Given the description of an element on the screen output the (x, y) to click on. 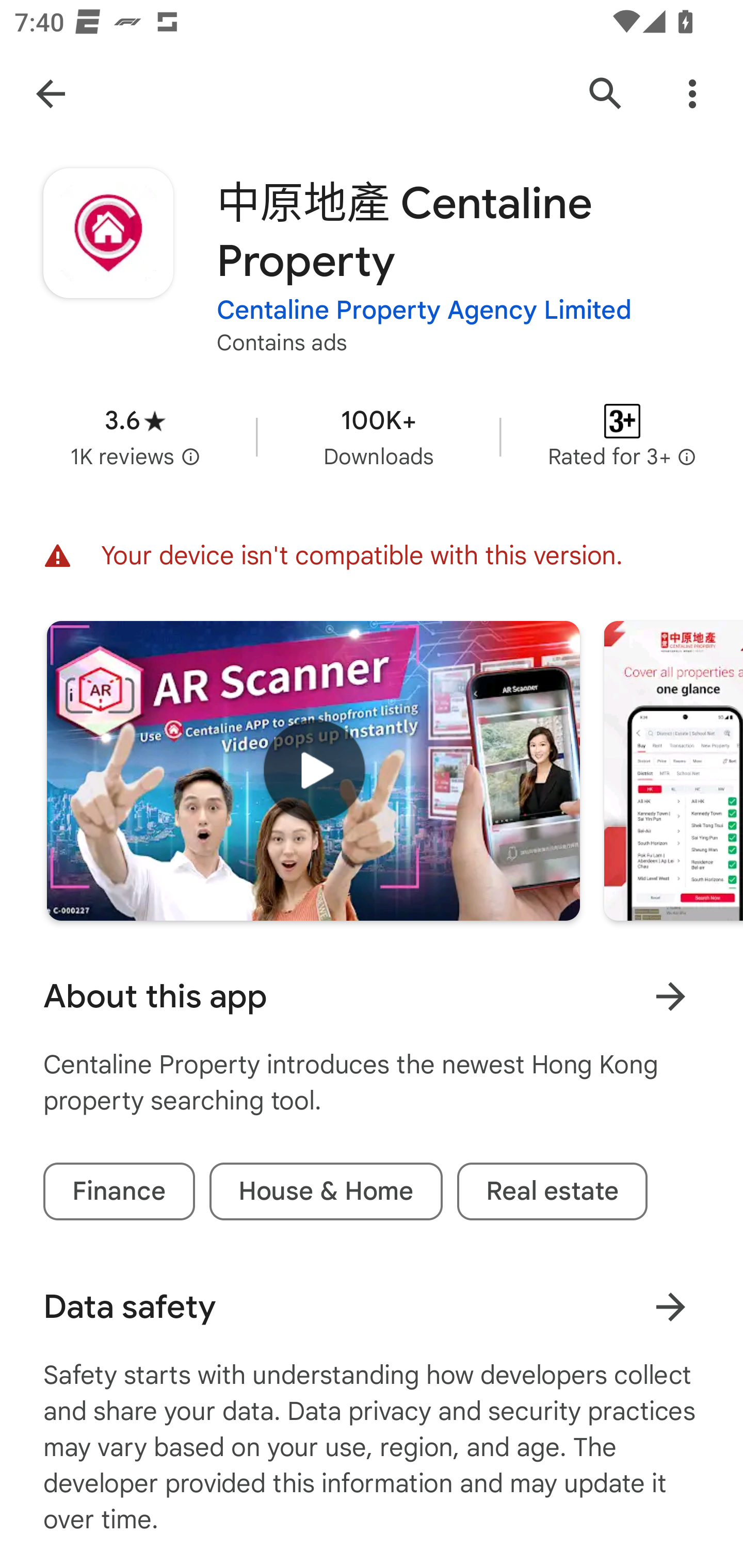
Navigate up (50, 93)
Search Google Play (605, 93)
More Options (692, 93)
Centaline Property Agency Limited (423, 310)
Average rating 3.6 stars in 1 thousand reviews (135, 436)
Content rating Rated for 3+ (622, 436)
Play trailer for "中原地產 Centaline Property" (313, 770)
About this app Learn more About this app (371, 996)
Learn more About this app (670, 996)
Finance tag (118, 1191)
House & Home tag (325, 1191)
Real estate tag (551, 1191)
Data safety Learn more about data safety (371, 1306)
Learn more about data safety (670, 1306)
